Given the description of an element on the screen output the (x, y) to click on. 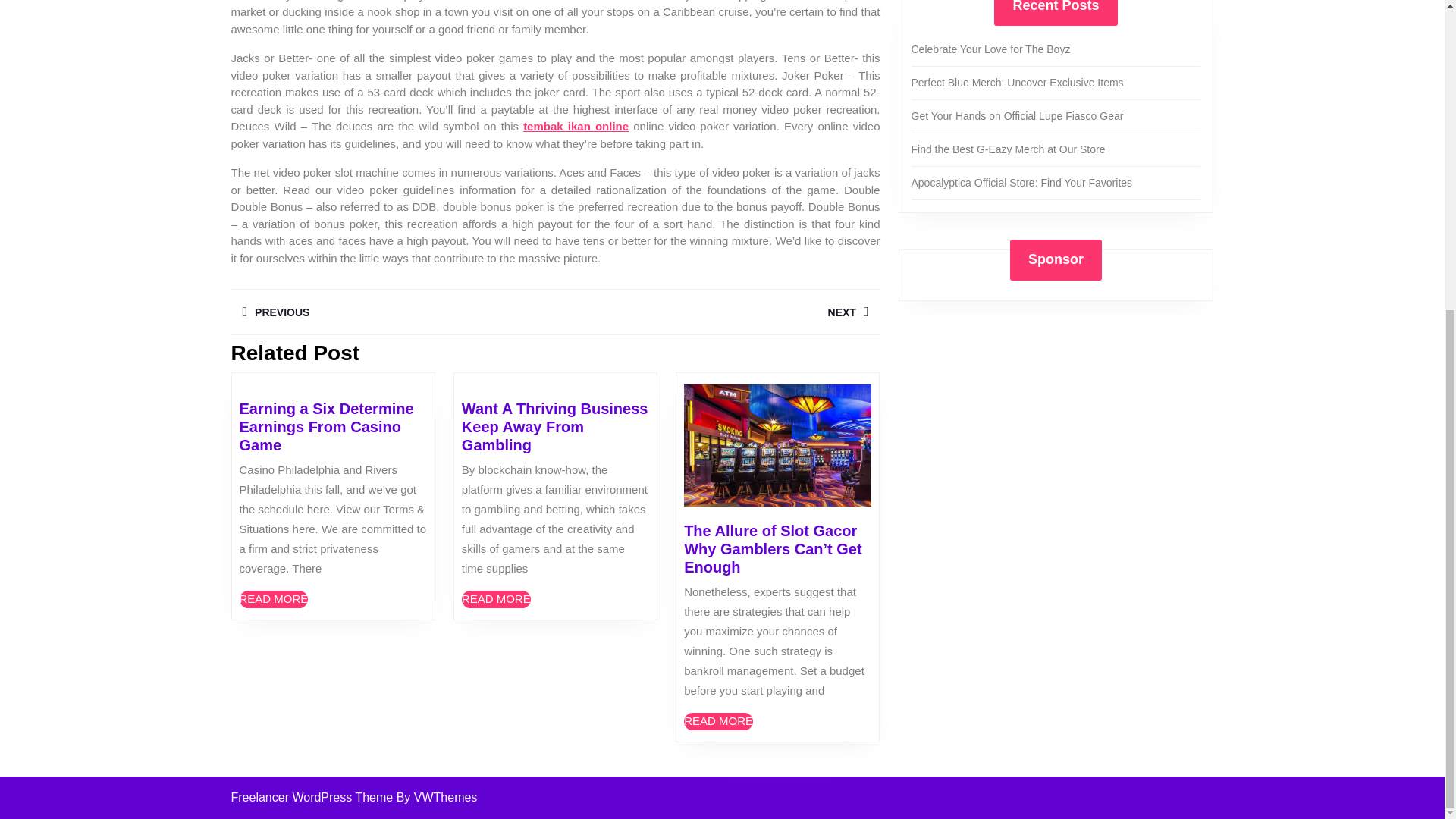
Find the Best G-Eazy Merch at Our Store (718, 721)
Celebrate Your Love for The Boyz (716, 311)
Perfect Blue Merch: Uncover Exclusive Items (1008, 149)
Get Your Hands on Official Lupe Fiasco Gear (274, 599)
Freelancer WordPress Theme (392, 311)
Apocalyptica Official Store: Find Your Favorites (990, 49)
tembak ikan online (1017, 82)
